Given the description of an element on the screen output the (x, y) to click on. 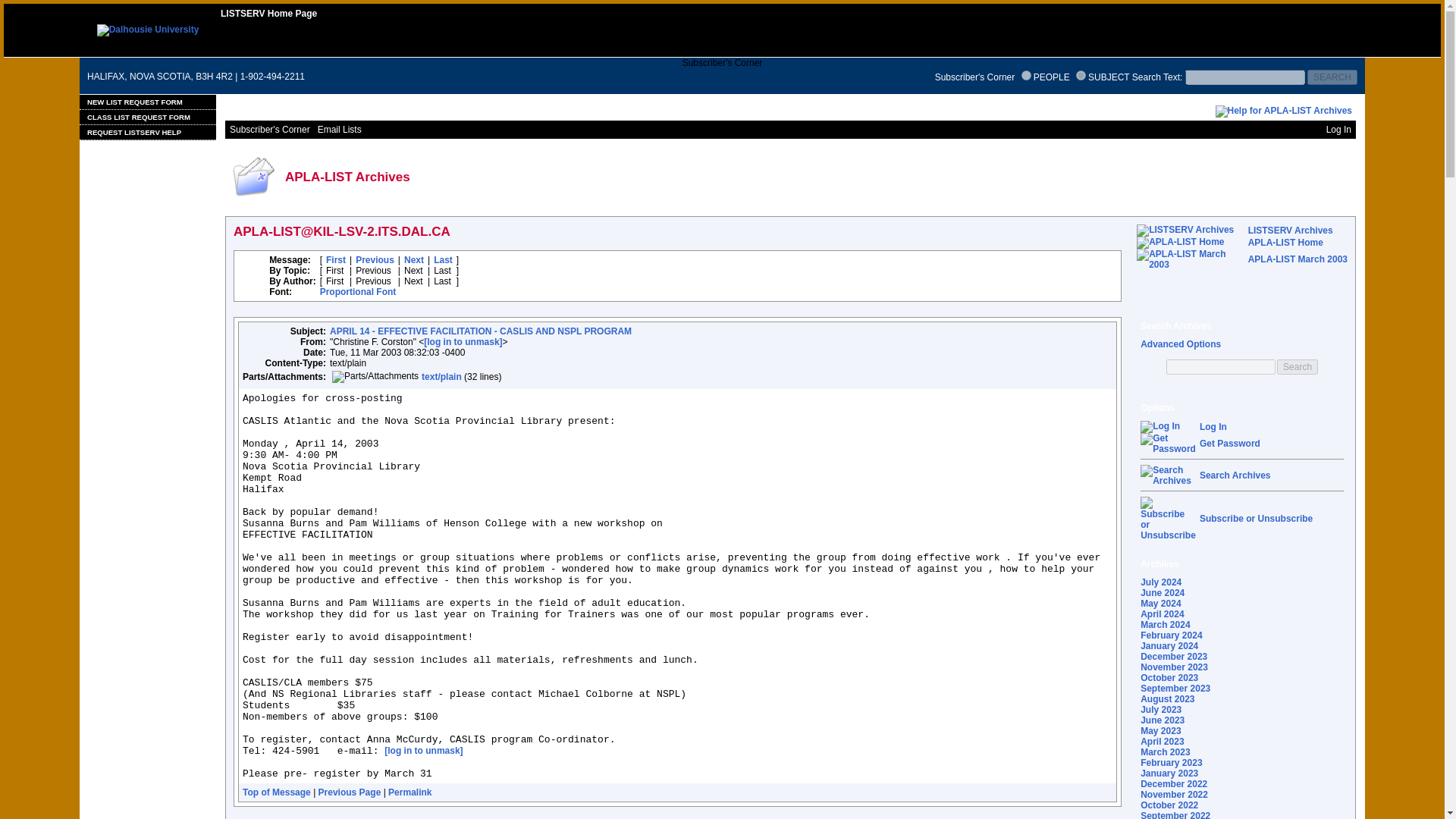
July 2024 (1160, 582)
SEARCH (1331, 77)
Advanced Options (1180, 344)
REQUEST LISTSERV HELP (147, 132)
Search (1296, 366)
May 2024 (1160, 603)
Get Password (1167, 443)
First (336, 259)
June 2024 (1162, 593)
Top of Message (277, 792)
Search (1296, 366)
Dalhousie University (148, 29)
Subscribe or Unsubscribe (1256, 518)
NEW LIST REQUEST FORM (147, 102)
Next (413, 259)
